Given the description of an element on the screen output the (x, y) to click on. 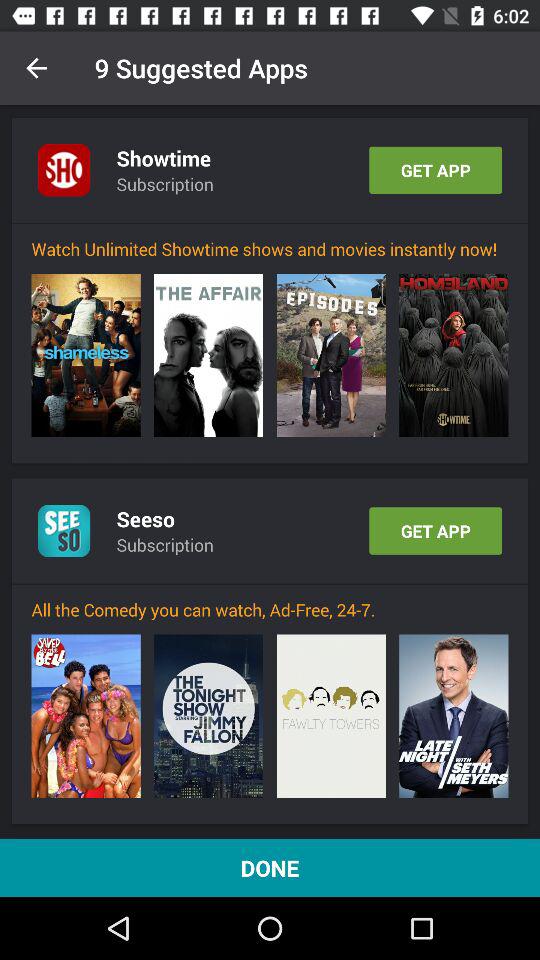
select item above the subscription icon (145, 519)
